Given the description of an element on the screen output the (x, y) to click on. 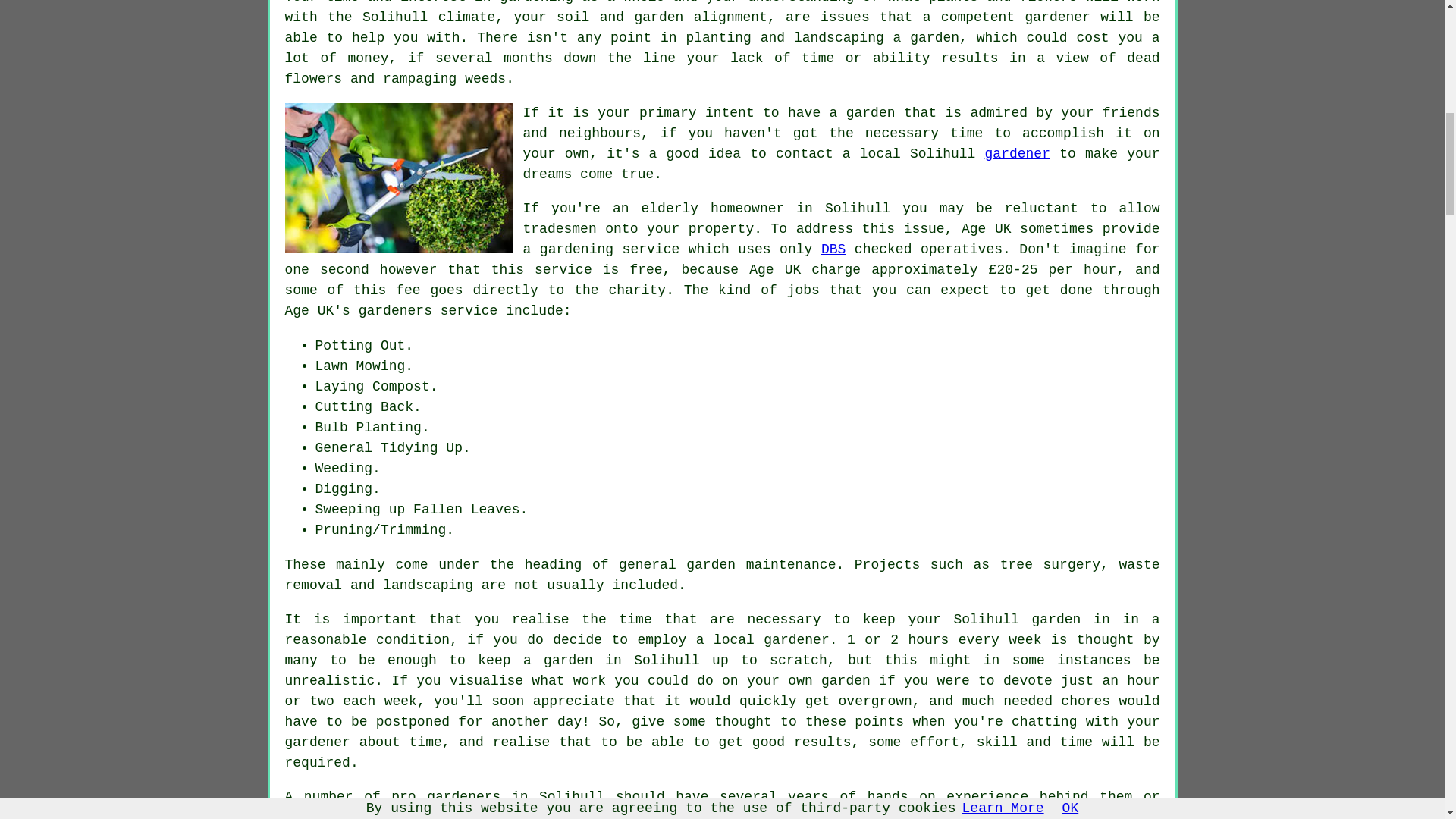
garden (934, 37)
gardener (1057, 17)
gardener (1017, 153)
gardeners (463, 796)
Gardeners Solihull West Midlands (398, 177)
